Given the description of an element on the screen output the (x, y) to click on. 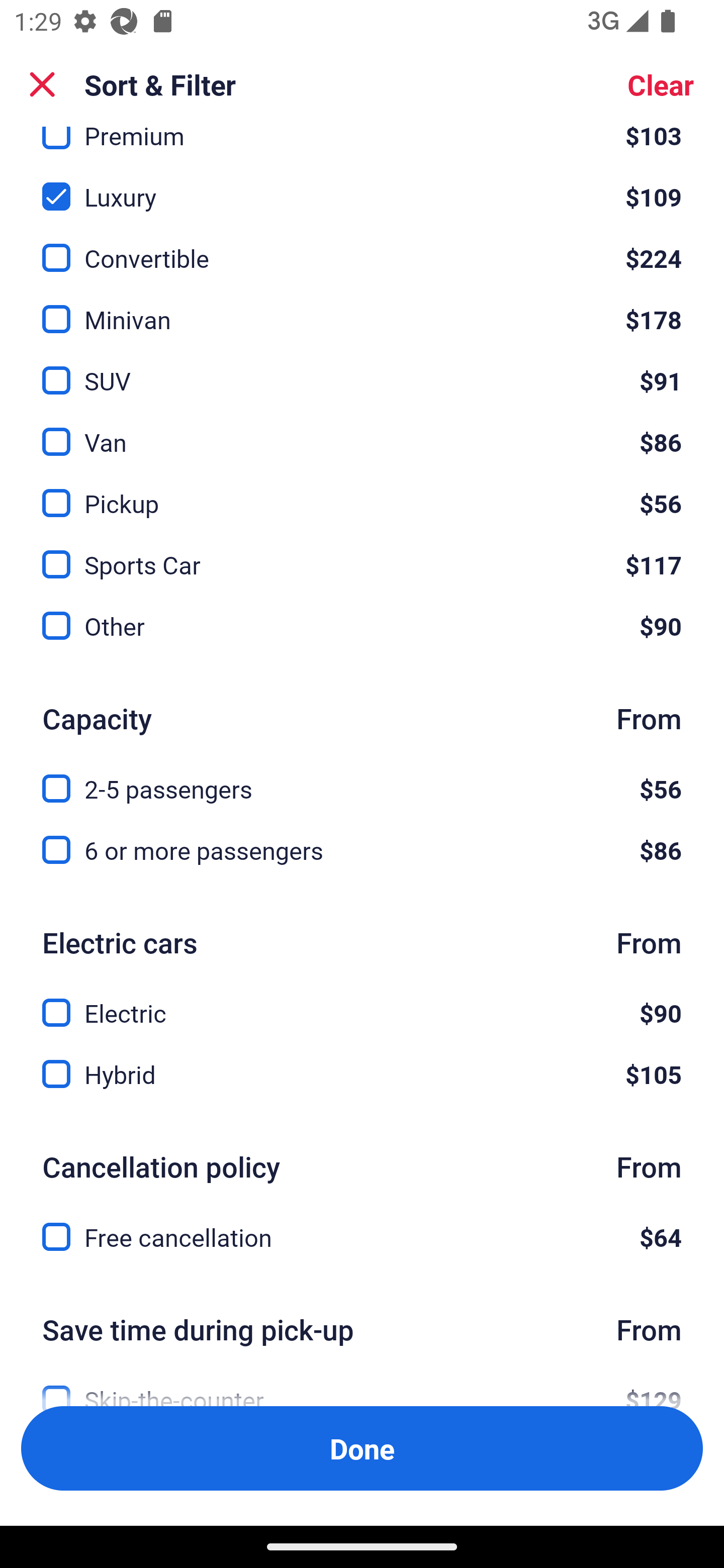
Close Sort and Filter (42, 84)
Clear (660, 84)
Luxury, $109 Luxury $109 (361, 185)
Convertible, $224 Convertible $224 (361, 246)
Minivan, $178 Minivan $178 (361, 307)
SUV, $91 SUV $91 (361, 368)
Van, $86 Van $86 (361, 429)
Pickup, $56 Pickup $56 (361, 491)
Sports Car, $117 Sports Car $117 (361, 552)
Other, $90 Other $90 (361, 625)
2-5 passengers, $56 2-5 passengers $56 (361, 776)
6 or more passengers, $86 6 or more passengers $86 (361, 849)
Electric, $90 Electric $90 (361, 1000)
Hybrid, $105 Hybrid $105 (361, 1073)
Free cancellation, $64 Free cancellation $64 (361, 1236)
Apply and close Sort and Filter Done (361, 1448)
